Given the description of an element on the screen output the (x, y) to click on. 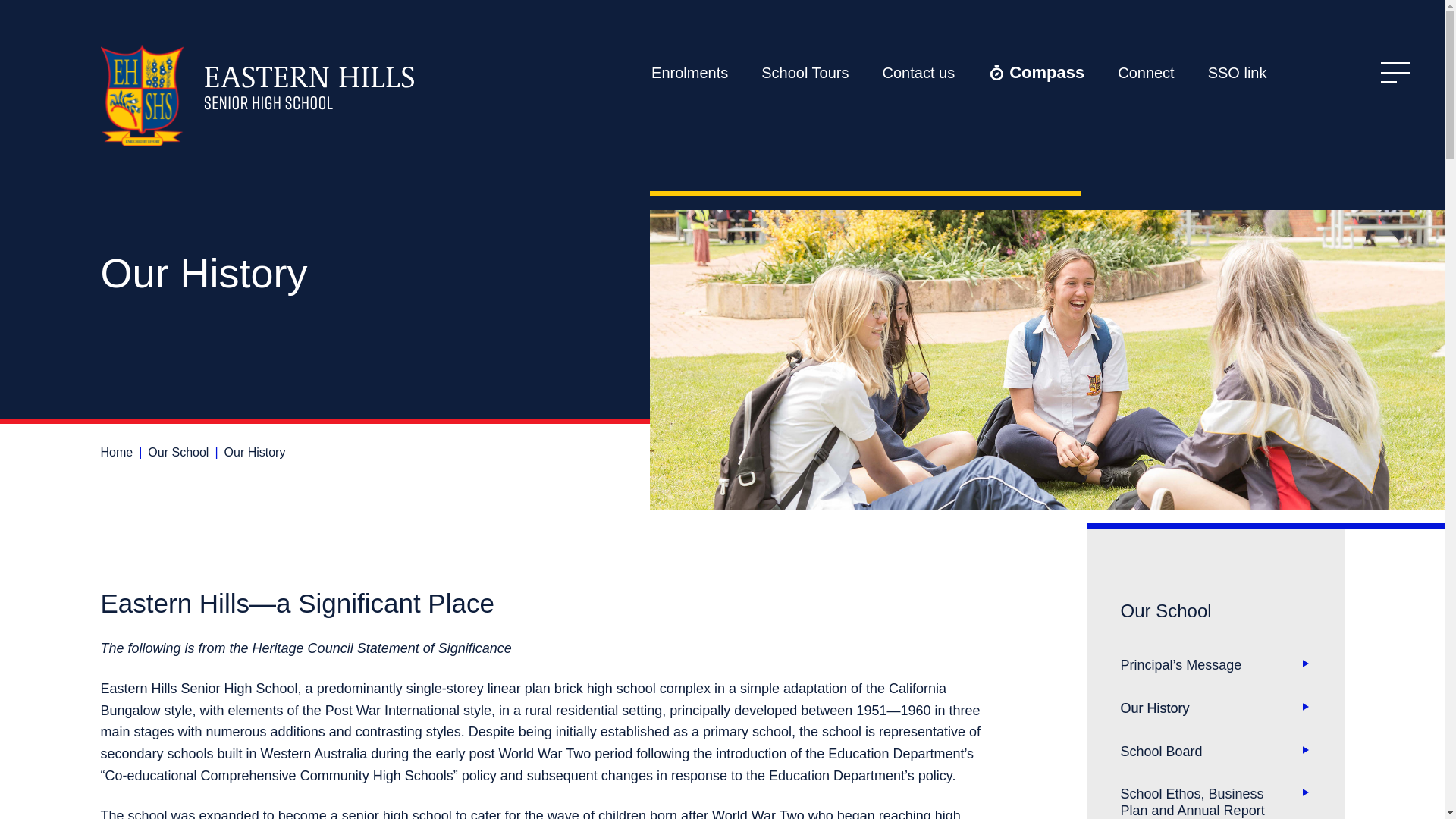
Home (116, 451)
Contact us (919, 72)
School Tours (804, 72)
Go to Eastern Hills SHS. (116, 451)
Compass (1035, 72)
Go to Our School. (178, 451)
School Board (1215, 752)
SSO link (1237, 72)
School Ethos, Business Plan and Annual Report (1215, 796)
Enrolments (689, 72)
